Given the description of an element on the screen output the (x, y) to click on. 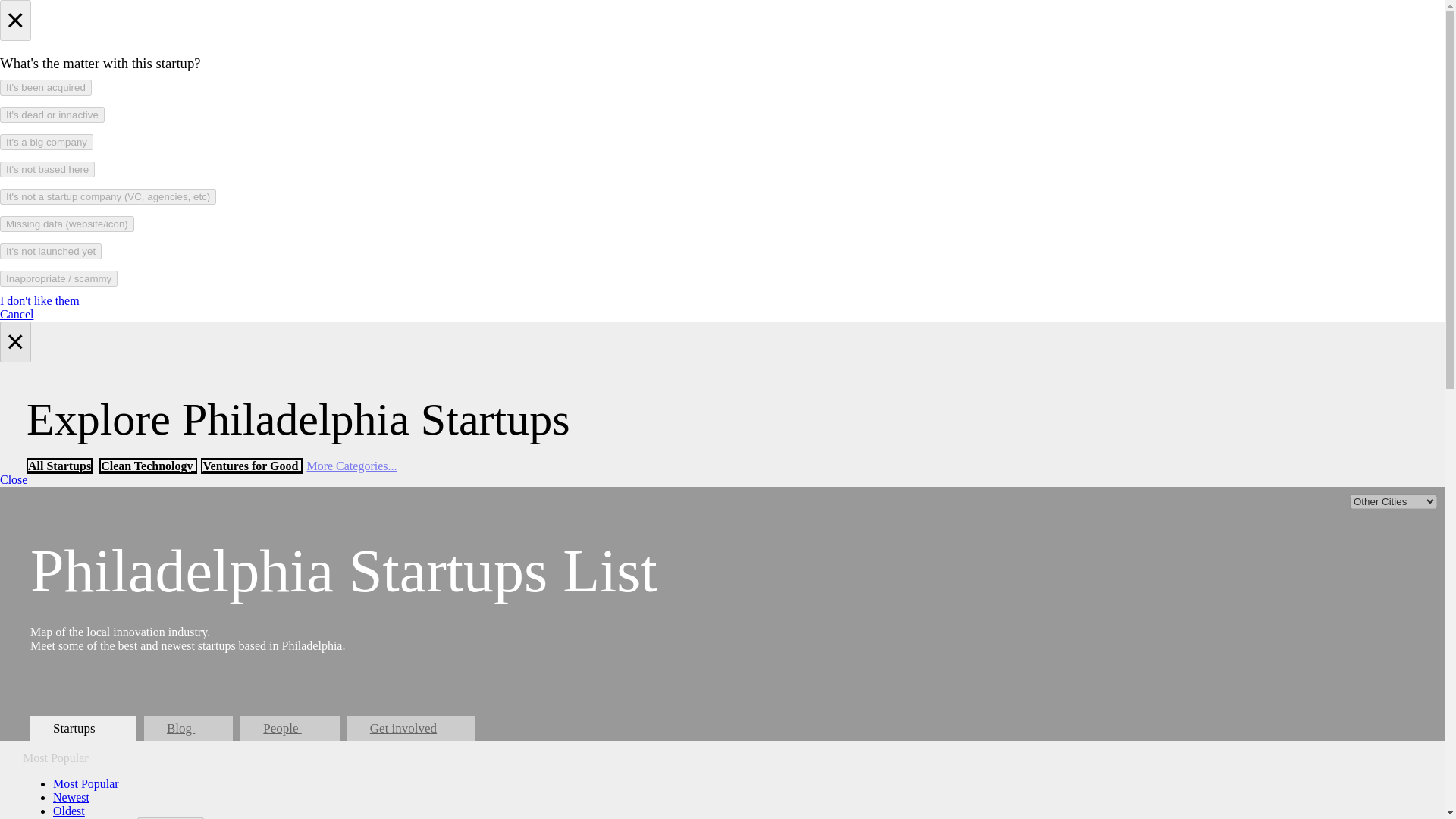
It's dead or innactive (52, 114)
It's not launched yet (50, 251)
I don't like them (40, 300)
Close (13, 479)
More Categories... (350, 465)
Clean Technology (147, 465)
Cancel (16, 314)
It's been acquired (45, 87)
It's a big company (46, 141)
All Startups (59, 465)
